Given the description of an element on the screen output the (x, y) to click on. 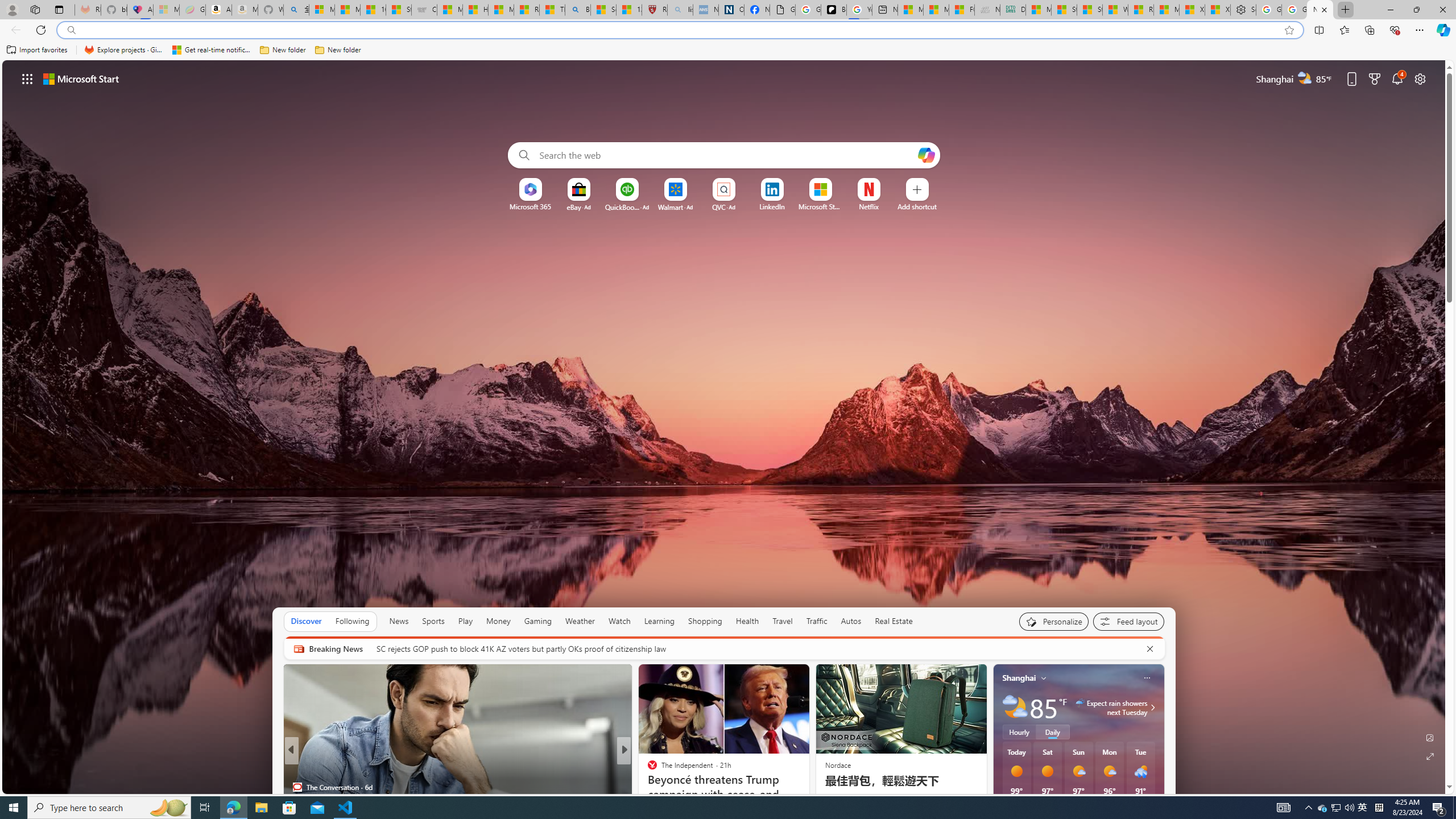
AutomationID: backgroundImagePicture (723, 426)
Page settings (1420, 78)
Google Analytics Opt-out Browser Add-on Download Page (782, 9)
R******* | Trusted Community Engagement and Contributions (1140, 9)
FOX News - MSN (961, 9)
Daily (1052, 731)
